Given the description of an element on the screen output the (x, y) to click on. 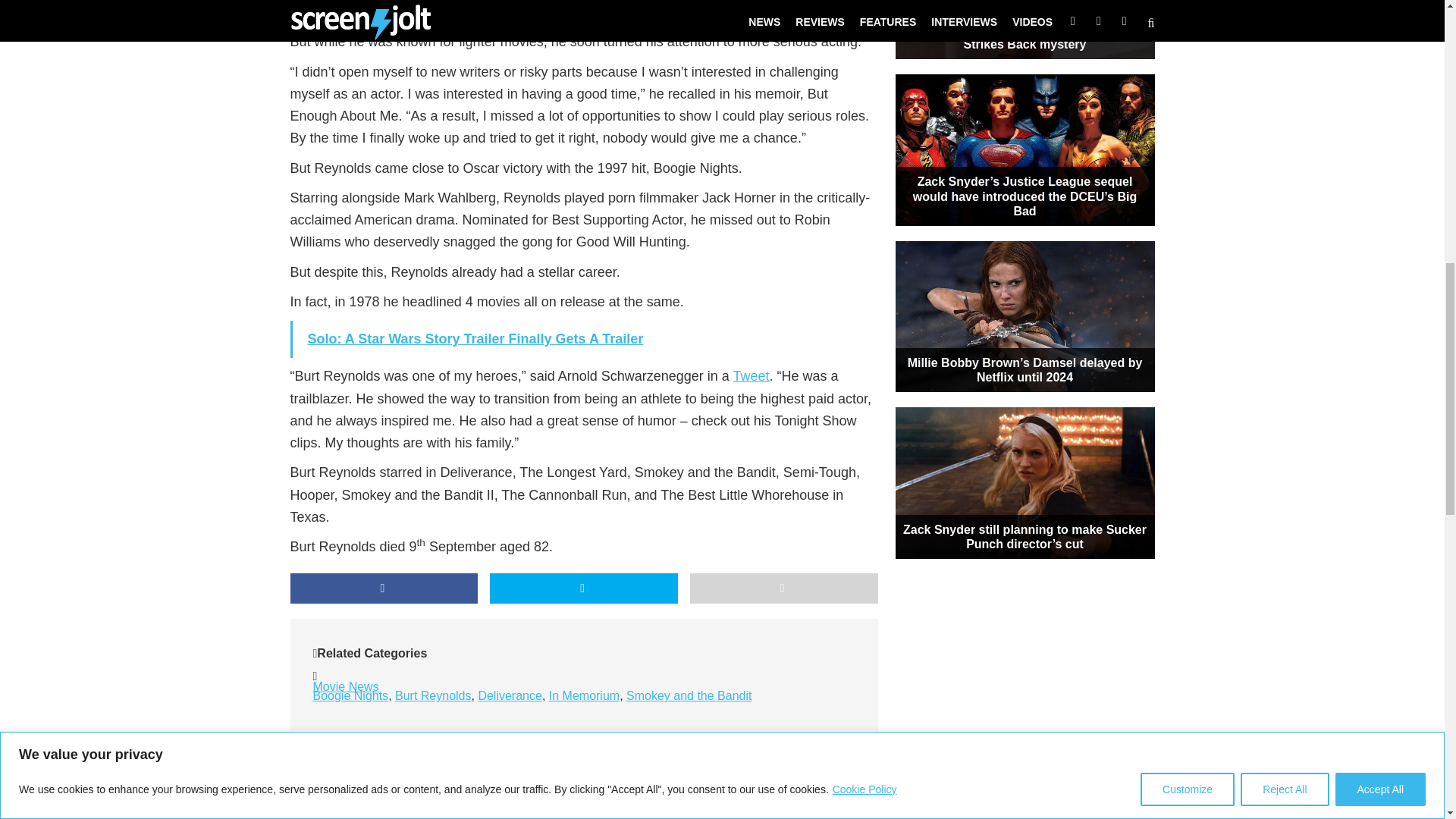
Share via Email (783, 588)
